Given the description of an element on the screen output the (x, y) to click on. 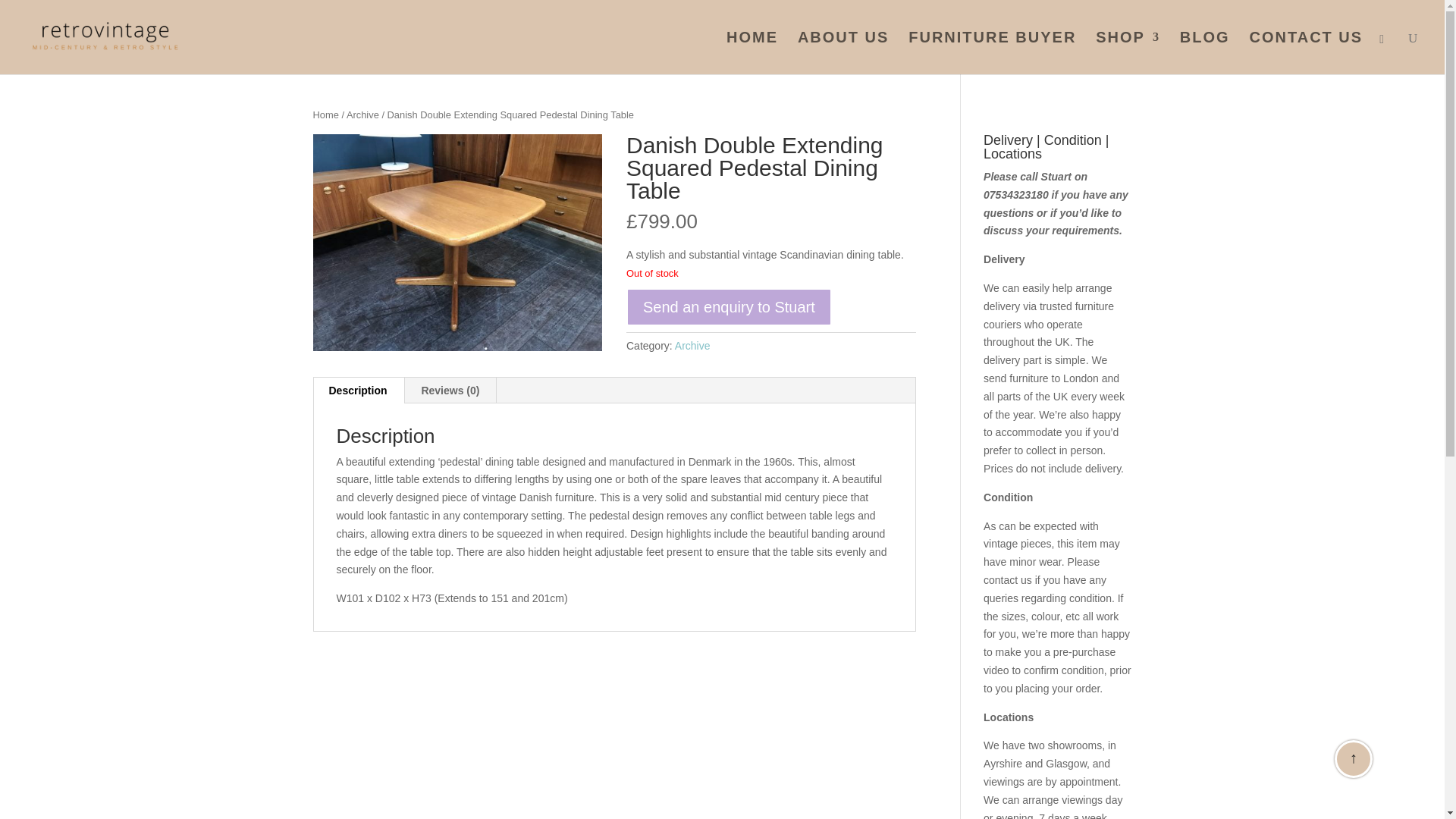
Archive (362, 114)
CONTACT US (1305, 52)
Home (325, 114)
SHOP (1128, 52)
HOME (751, 52)
Archive (692, 345)
FURNITURE BUYER (991, 52)
Description (358, 390)
Send an enquiry to Stuart (728, 306)
ABOUT US (842, 52)
